Given the description of an element on the screen output the (x, y) to click on. 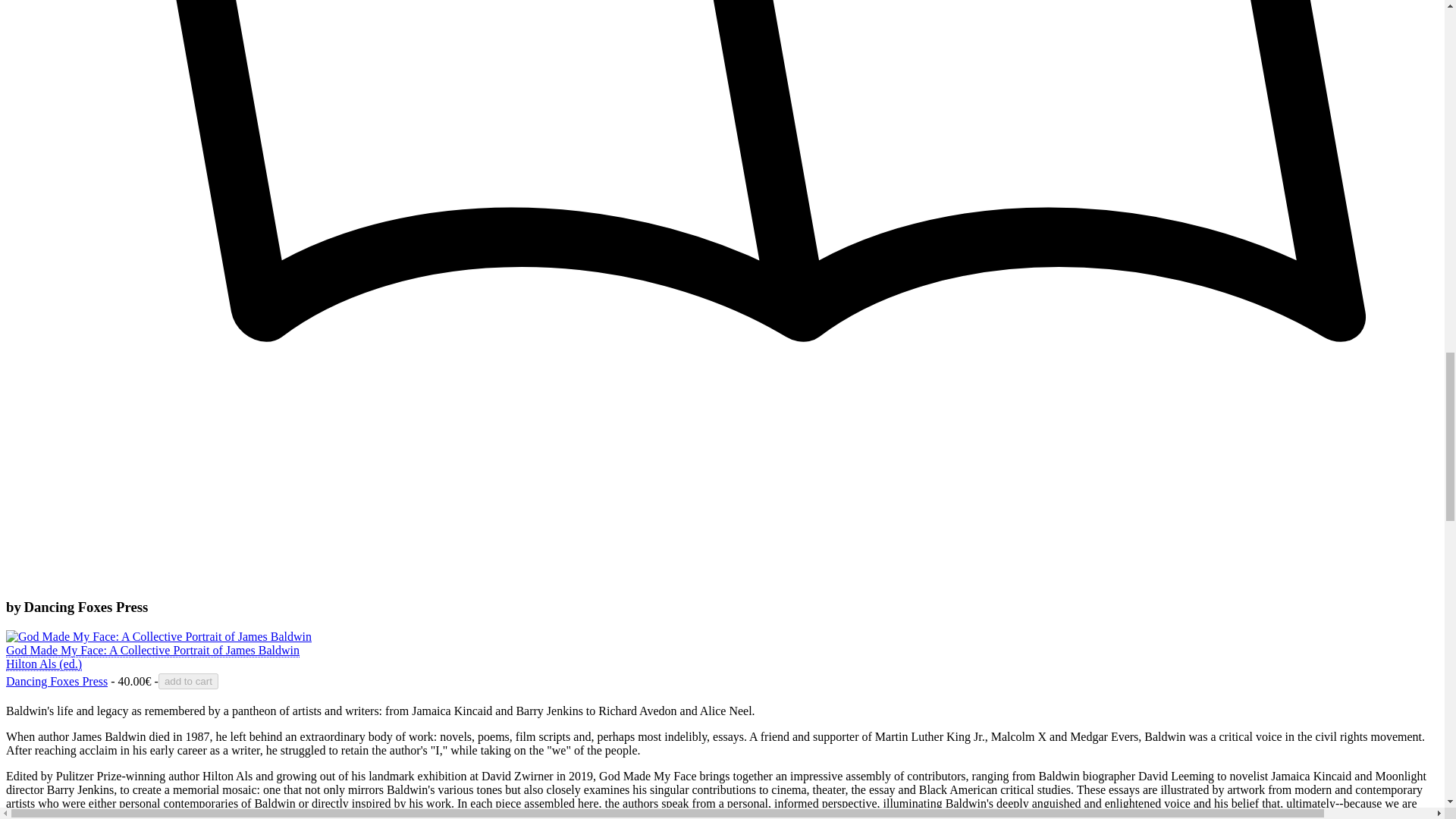
add to cart (188, 681)
Dancing Foxes Press (56, 681)
Dancing Foxes Press (56, 681)
God Made My Face: A Collective Portrait of James Baldwin (158, 635)
God Made My Face: A Collective Portrait of James Baldwin (152, 656)
